Given the description of an element on the screen output the (x, y) to click on. 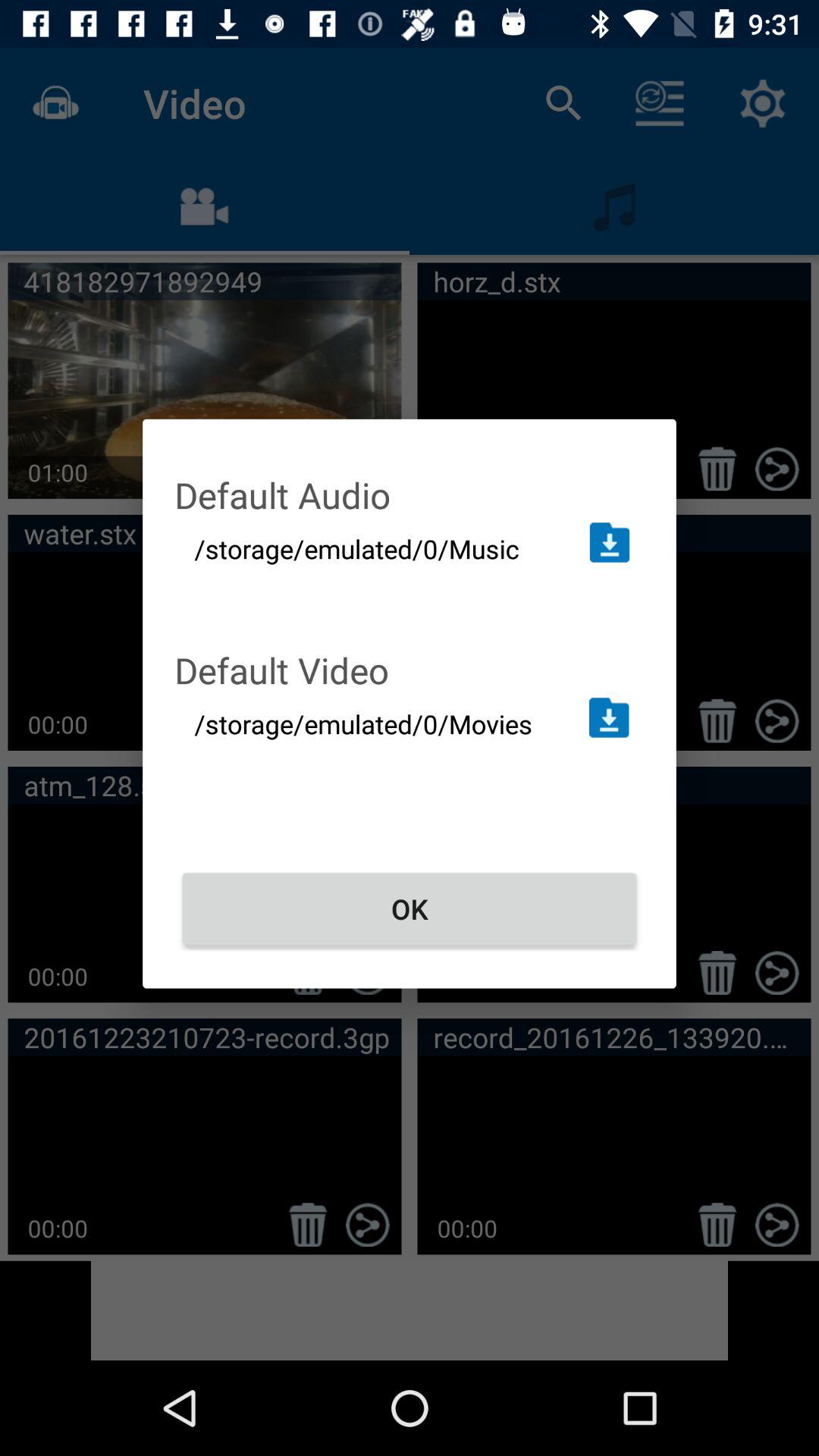
change folder (609, 542)
